Given the description of an element on the screen output the (x, y) to click on. 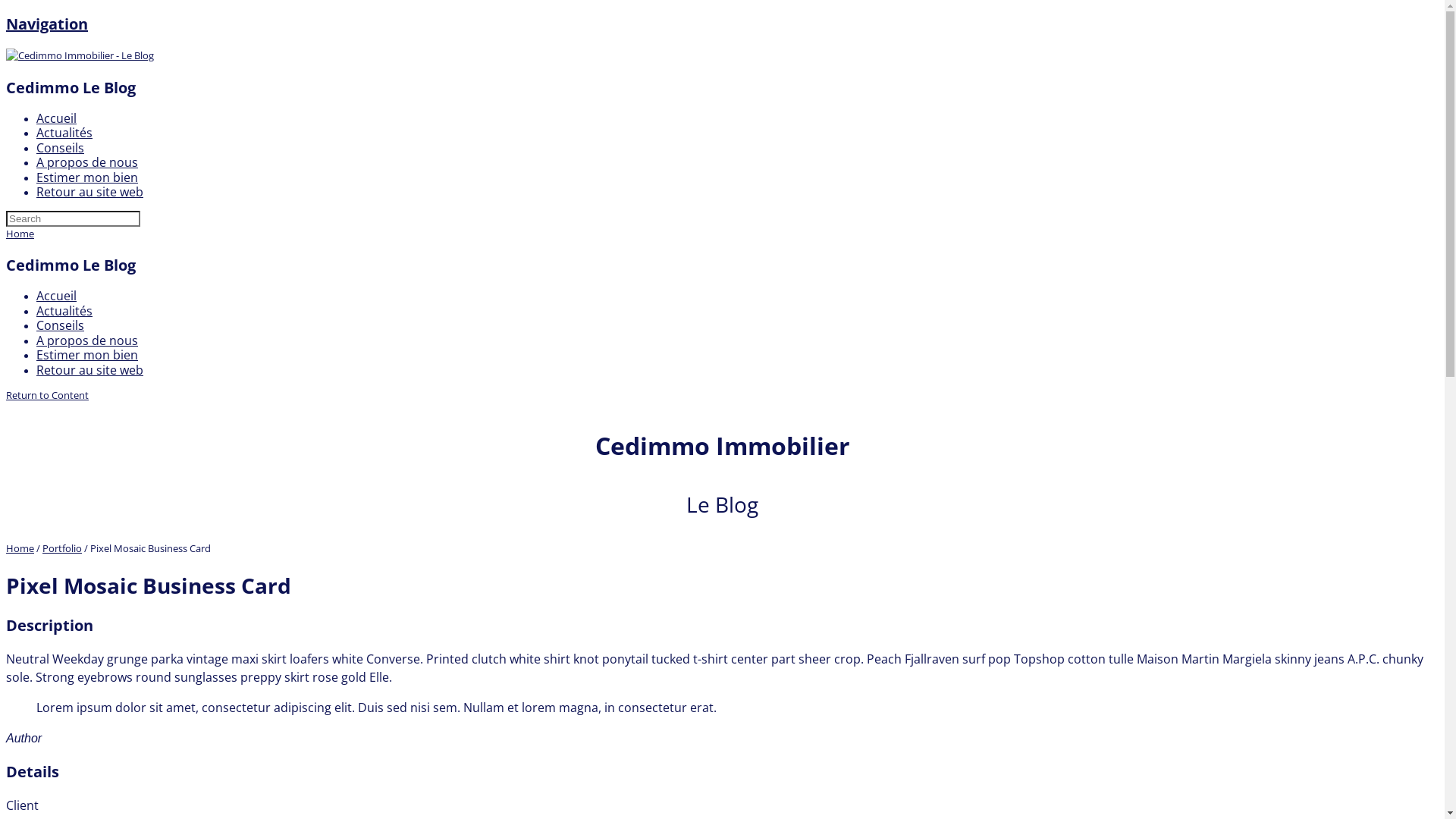
Estimer mon bien Element type: text (87, 176)
Conseils Element type: text (60, 324)
Estimer mon bien Element type: text (87, 354)
Home Element type: text (20, 232)
Retour au site web Element type: text (89, 368)
Retour au site web Element type: text (89, 191)
A propos de nous Element type: text (87, 340)
Accueil Element type: text (56, 295)
Home Element type: text (20, 548)
Blog Element type: hover (79, 55)
A propos de nous Element type: text (87, 161)
Accueil Element type: text (56, 117)
Return to Content Element type: text (47, 394)
Portfolio Element type: text (61, 548)
Navigation Element type: text (46, 23)
Conseils Element type: text (60, 147)
